Given the description of an element on the screen output the (x, y) to click on. 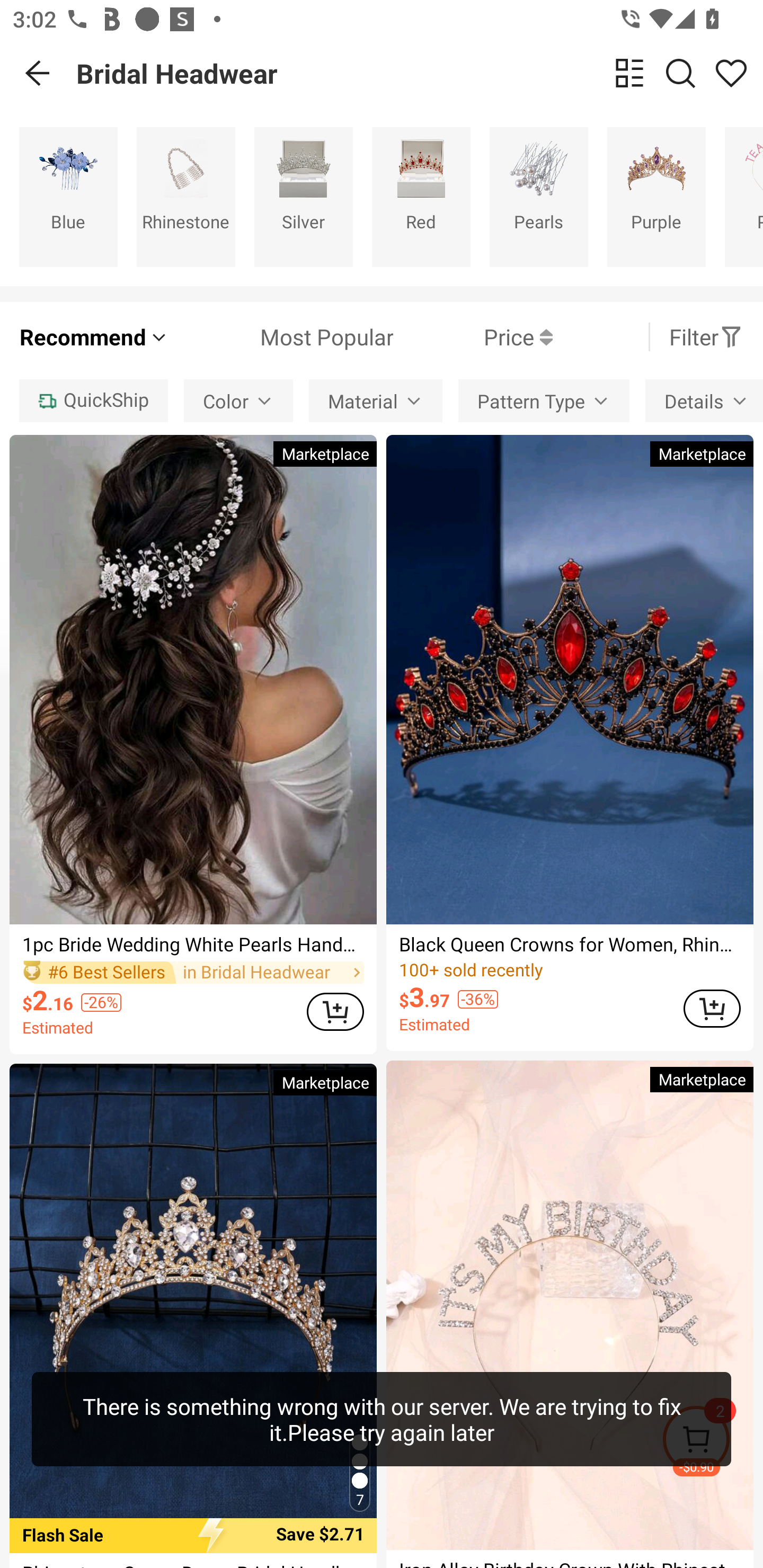
Bridal Headwear change view Search Share (419, 72)
change view (629, 72)
Search (679, 72)
Share (730, 72)
Blue (68, 196)
Rhinestone (185, 196)
Silver (303, 196)
Red (421, 196)
Pearls (538, 196)
Purple (656, 196)
Recommend (94, 336)
Most Popular (280, 336)
Price (472, 336)
Filter (705, 336)
QuickShip (93, 400)
Color (237, 400)
Material (375, 400)
Pattern Type (543, 400)
Details (704, 400)
#6 Best Sellers in Bridal Headwear (192, 971)
ADD TO CART (711, 1008)
ADD TO CART (334, 1011)
